Given the description of an element on the screen output the (x, y) to click on. 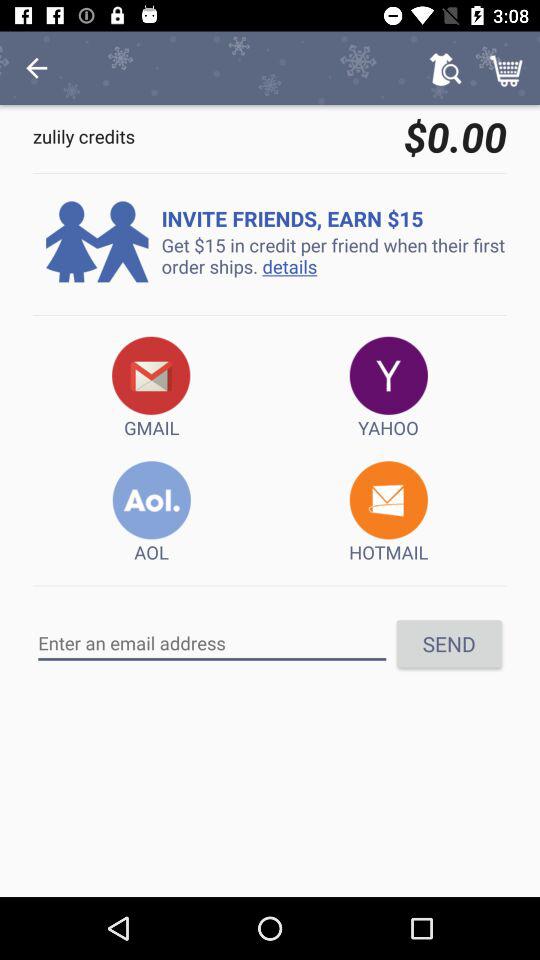
scroll until the hotmail item (388, 512)
